Given the description of an element on the screen output the (x, y) to click on. 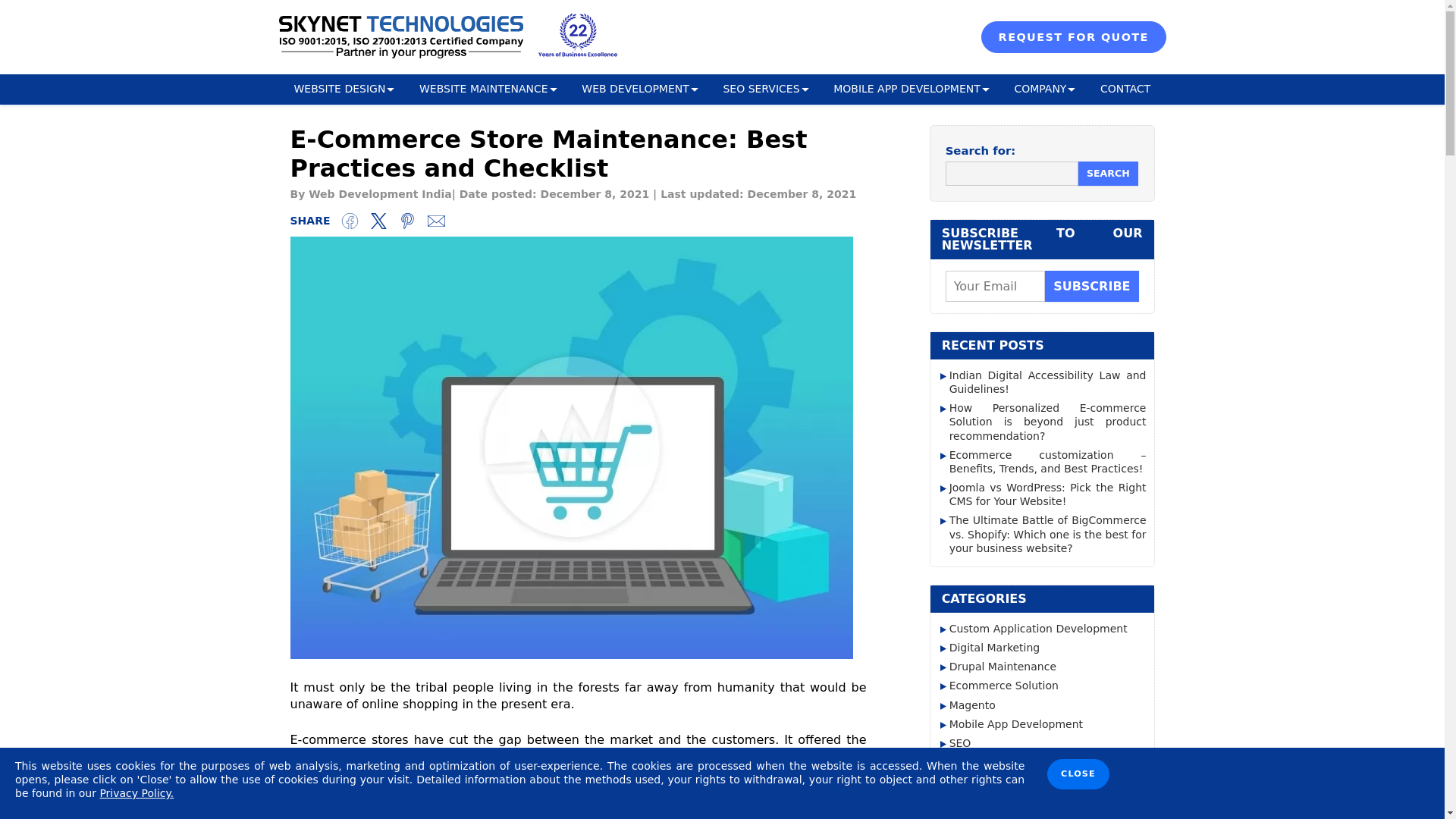
Search (1108, 173)
Website Design (338, 89)
WEB DEVELOPMENT (635, 89)
WEBSITE DESIGN (338, 89)
WEBSITE MAINTENANCE (482, 89)
REQUEST FOR QUOTE (1073, 37)
Request For Quote (1073, 37)
Subscribe (1091, 286)
Skynet Technologies (400, 37)
Skynet Technologies (400, 36)
